Given the description of an element on the screen output the (x, y) to click on. 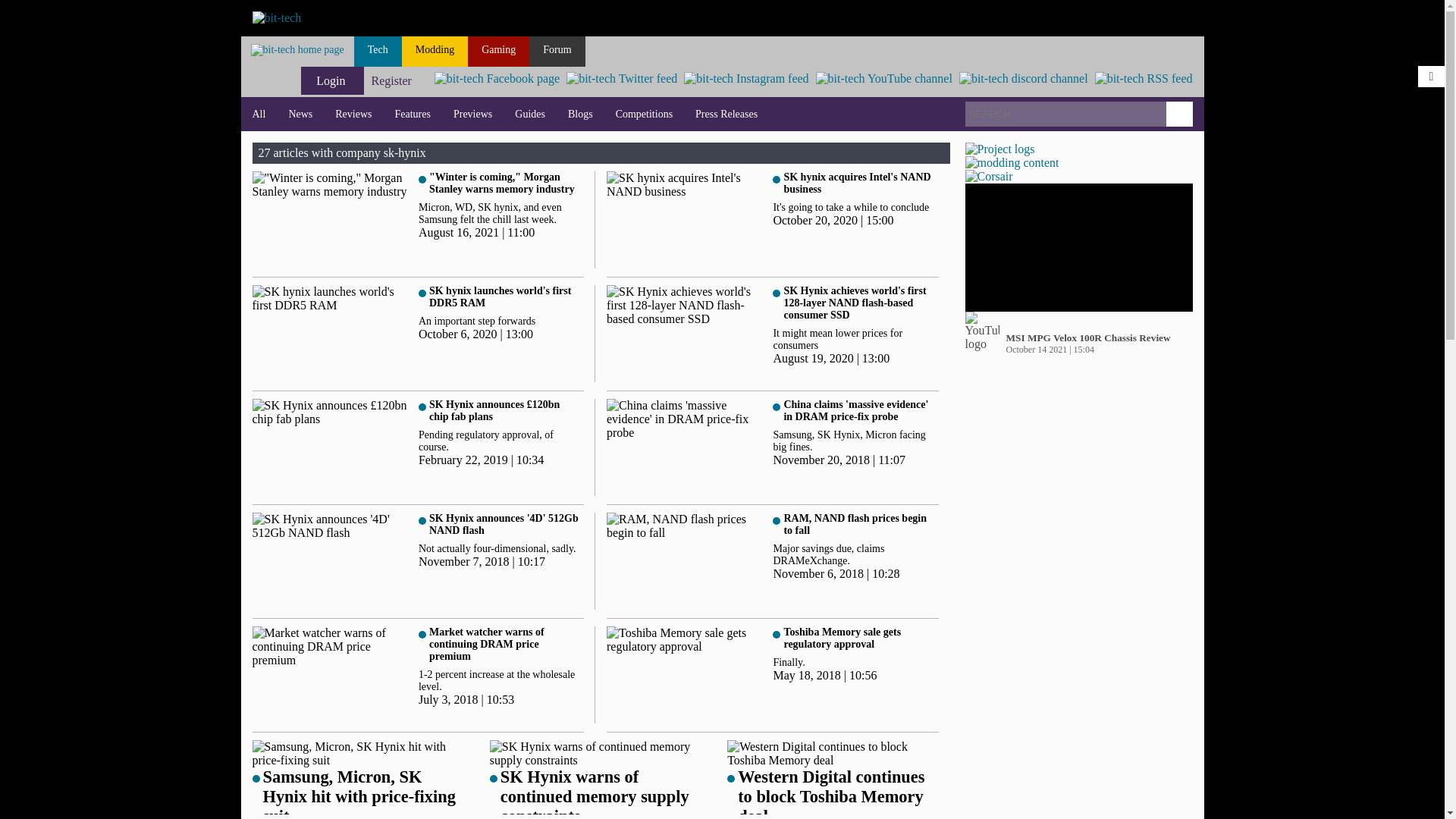
Features (413, 113)
Register (391, 80)
Press Releases (726, 113)
Login (331, 80)
Guides (529, 113)
All (259, 113)
Previews (472, 113)
Competitions (644, 113)
Blogs (580, 113)
Reviews (352, 113)
